Given the description of an element on the screen output the (x, y) to click on. 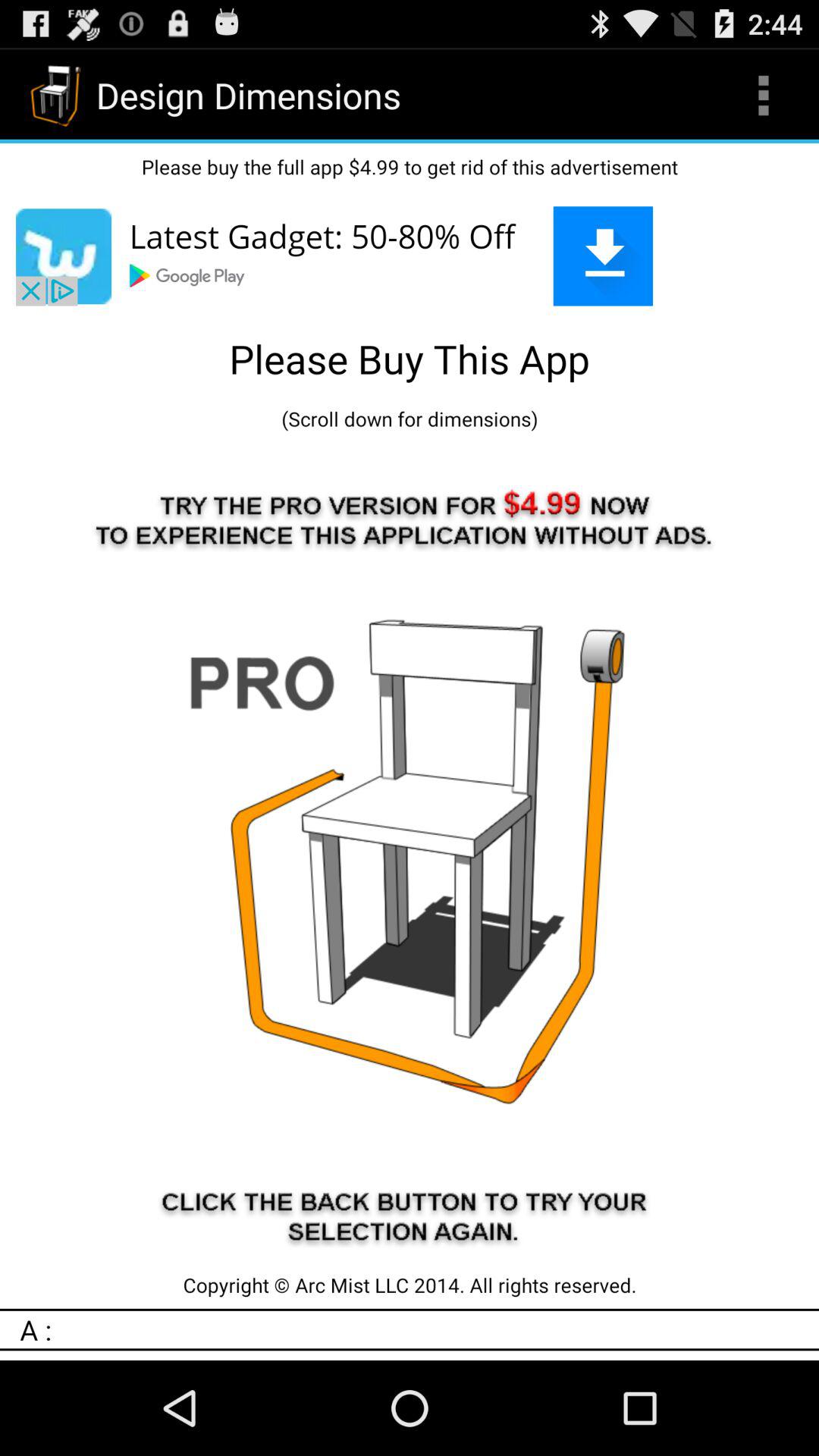
choose icon to the right of the design dimensions (763, 95)
